Given the description of an element on the screen output the (x, y) to click on. 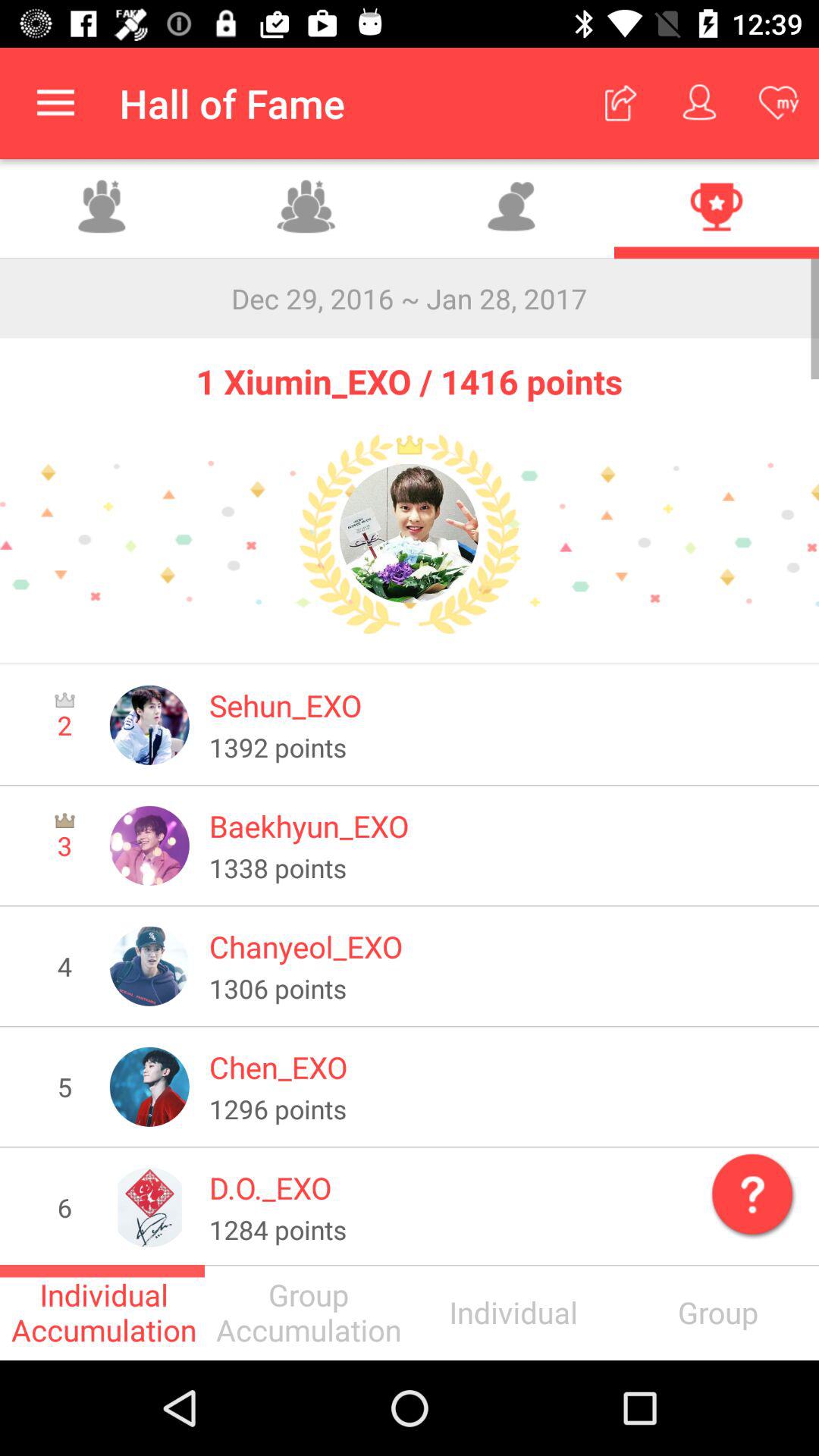
achievements (716, 208)
